Given the description of an element on the screen output the (x, y) to click on. 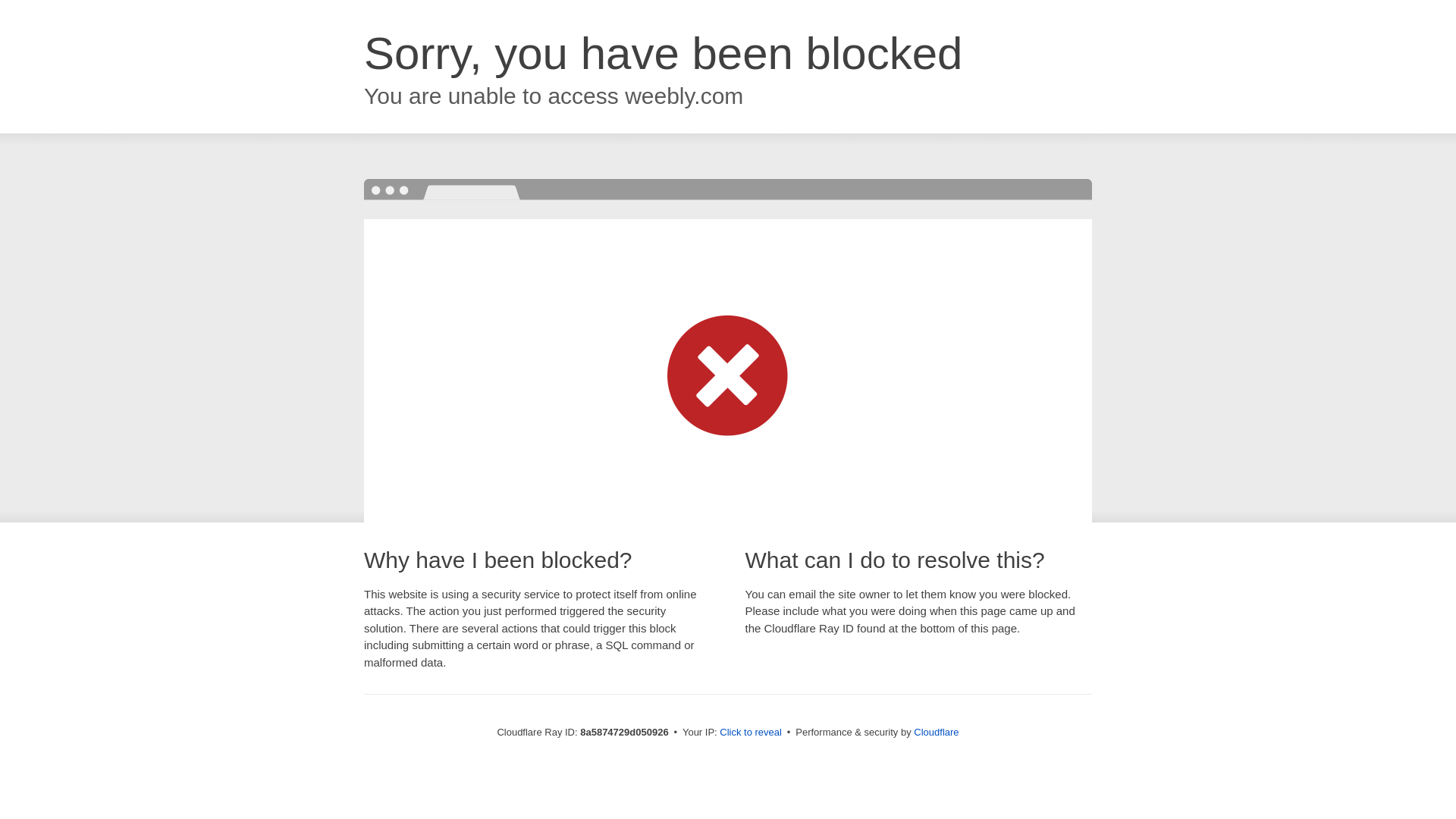
Click to reveal (750, 732)
Cloudflare (936, 731)
